Given the description of an element on the screen output the (x, y) to click on. 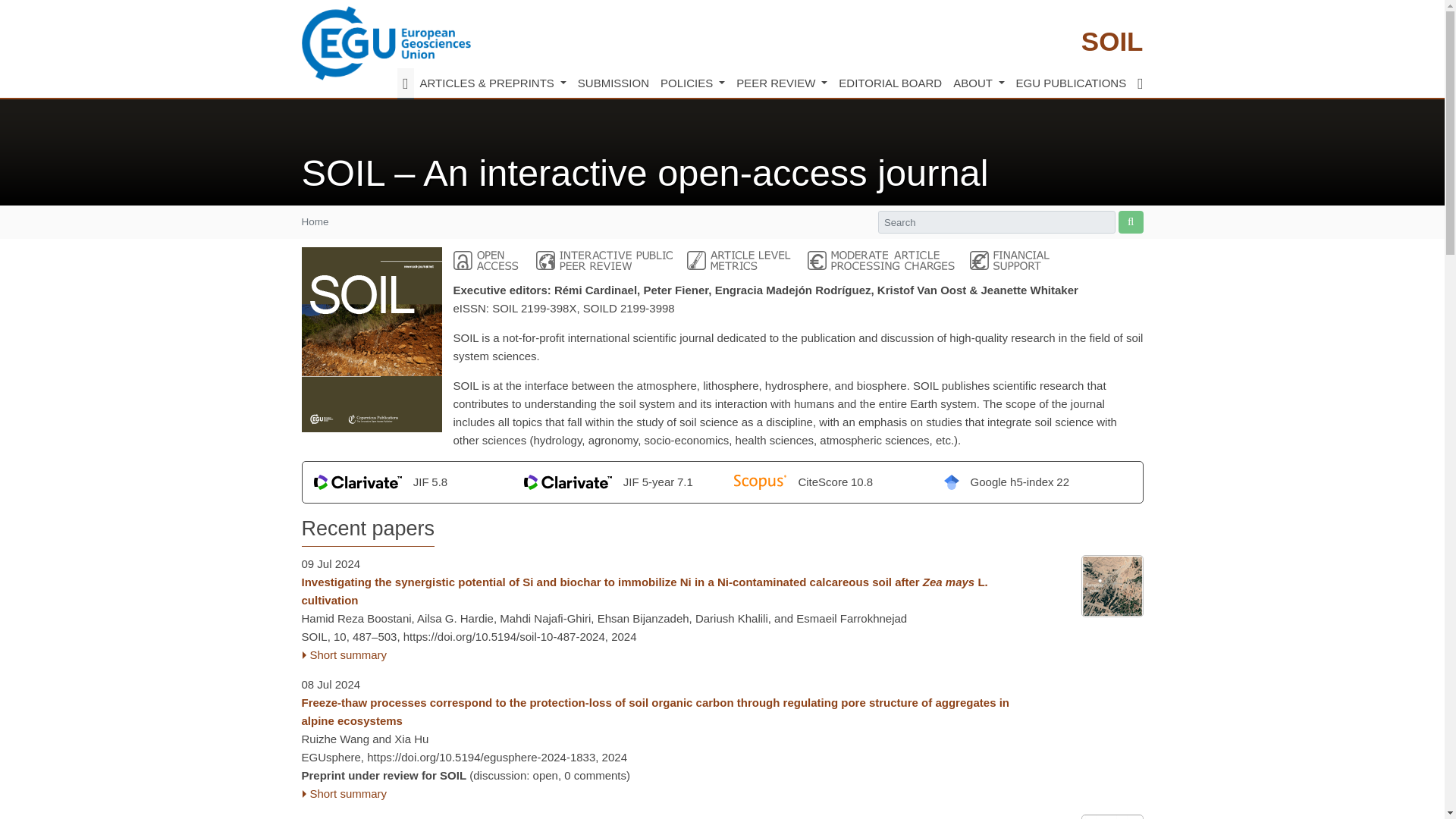
Login (1139, 83)
SOIL (1111, 41)
Open access (486, 260)
Public peer review (603, 260)
SUBMISSION (612, 83)
POLICIES (691, 83)
Article level metrics (740, 260)
Moderate APCs (881, 260)
PEER REVIEW (781, 83)
Financial support (1009, 260)
SOIL cover (371, 339)
Start site search (1130, 221)
Home (405, 83)
